Given the description of an element on the screen output the (x, y) to click on. 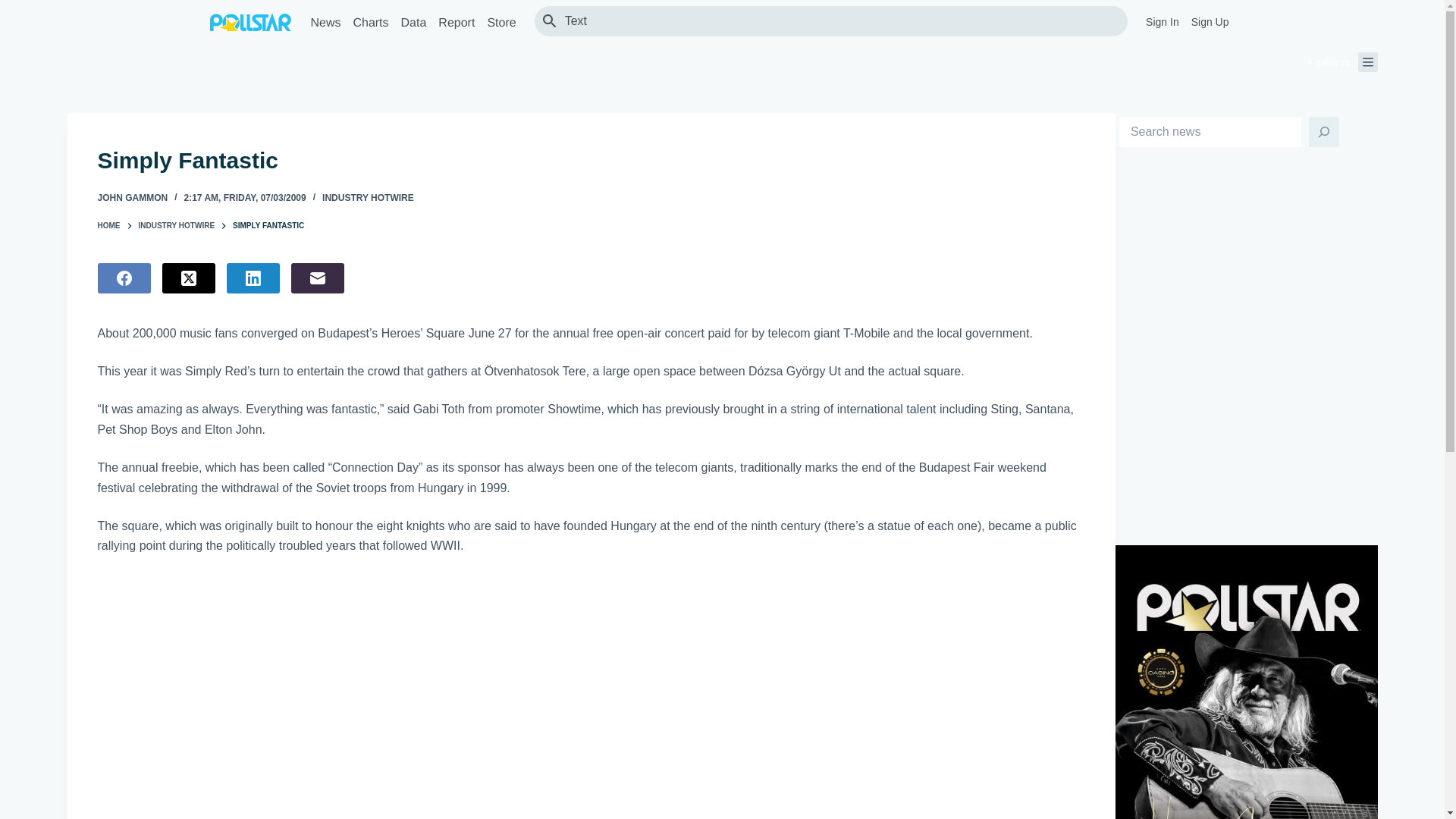
Text (838, 20)
Simply Fantastic (590, 160)
Text (838, 20)
Skip to content (15, 7)
Posts by John Gammon (132, 197)
